Given the description of an element on the screen output the (x, y) to click on. 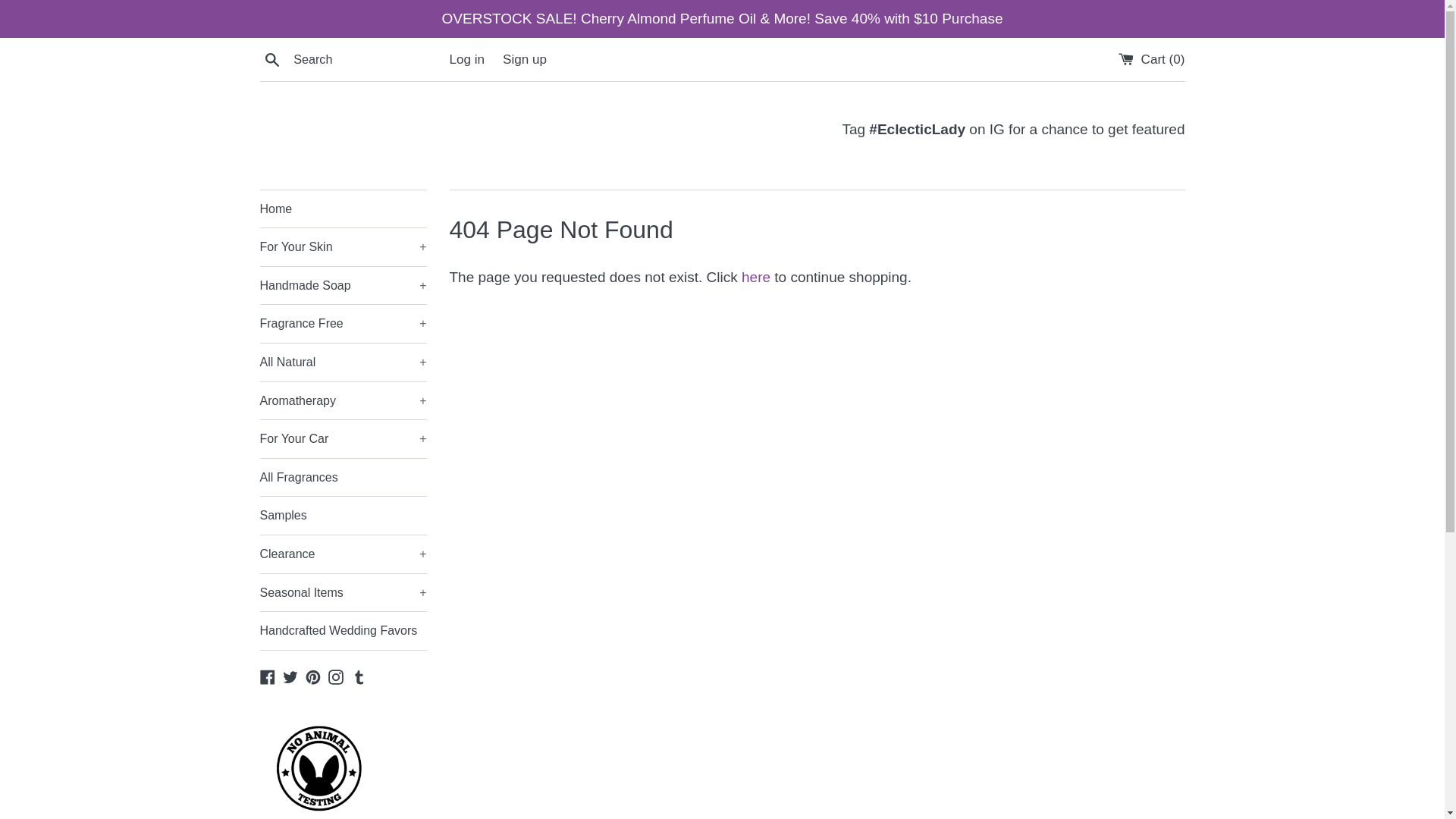
Eclectic Lady on Twitter (290, 675)
Eclectic Lady on Pinterest (312, 675)
Sign up (524, 59)
Eclectic Lady on Tumblr (359, 675)
Search (271, 58)
Eclectic Lady on Instagram (336, 675)
Eclectic Lady on Facebook (267, 675)
Home (342, 209)
Eclectic Lady on Instagram (917, 129)
Log in (466, 59)
